Given the description of an element on the screen output the (x, y) to click on. 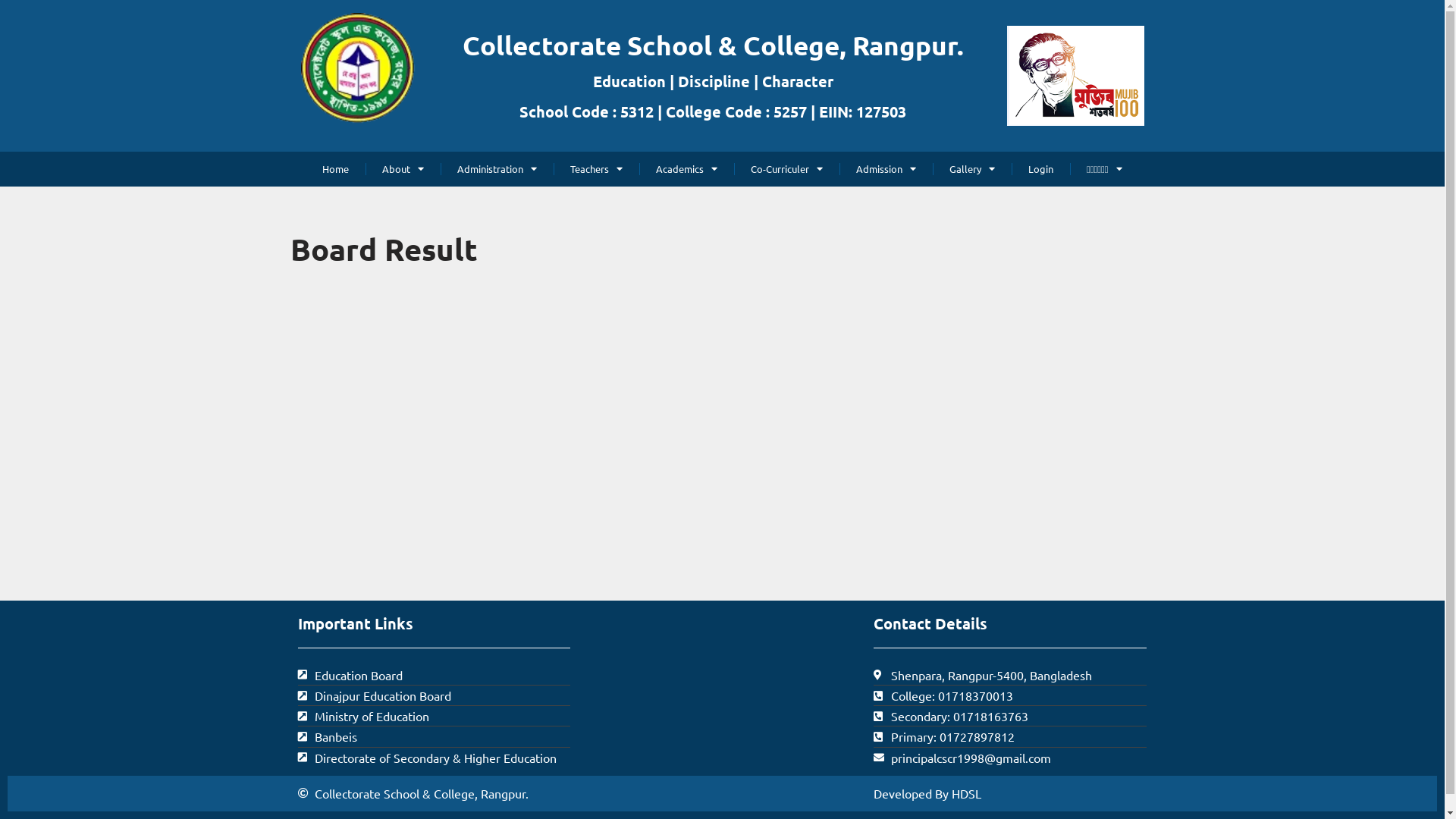
principalcscr1998@gmail.com Element type: text (1009, 757)
Developed By HDSL Element type: text (1009, 793)
Education Board Element type: text (433, 675)
College: 01718370013 Element type: text (1009, 695)
Primary: 01727897812 Element type: text (1009, 736)
Banbeis Element type: text (433, 736)
Admission Element type: text (886, 168)
Directorate of Secondary & Higher Education Element type: text (433, 757)
Administration Element type: text (497, 168)
Co-Curriculer Element type: text (786, 168)
Academics Element type: text (687, 168)
Teachers Element type: text (596, 168)
Skip to content Element type: text (11, 31)
About Element type: text (403, 168)
Secondary: 01718163763 Element type: text (1009, 716)
Home Element type: text (335, 168)
Shenpara, Rangpur-5400, Bangladesh Element type: text (1009, 675)
Dinajpur Education Board Element type: text (433, 695)
Gallery Element type: text (972, 168)
Ministry of Education Element type: text (433, 716)
Collectorate School & College, Rangpur. Element type: text (712, 44)
Login Element type: text (1041, 168)
